Given the description of an element on the screen output the (x, y) to click on. 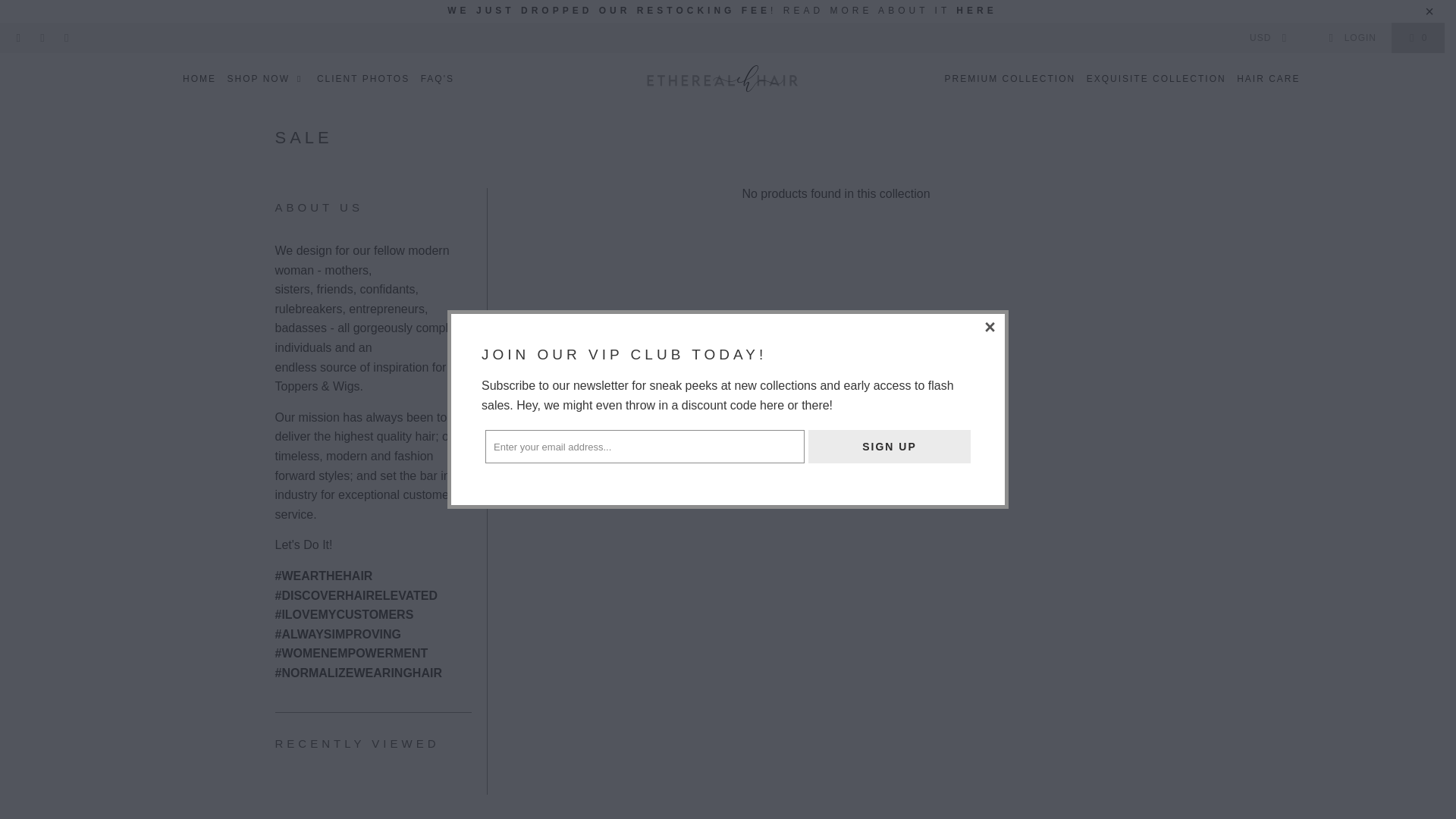
ETHEREAL HAIR on Instagram (41, 37)
POLICY CHANGE (975, 9)
ETHEREAL HAIR on Facebook (17, 37)
My Account  (1351, 37)
Email ETHEREAL HAIR (65, 37)
ETHEREAL HAIR (722, 79)
Sign Up (889, 446)
